Given the description of an element on the screen output the (x, y) to click on. 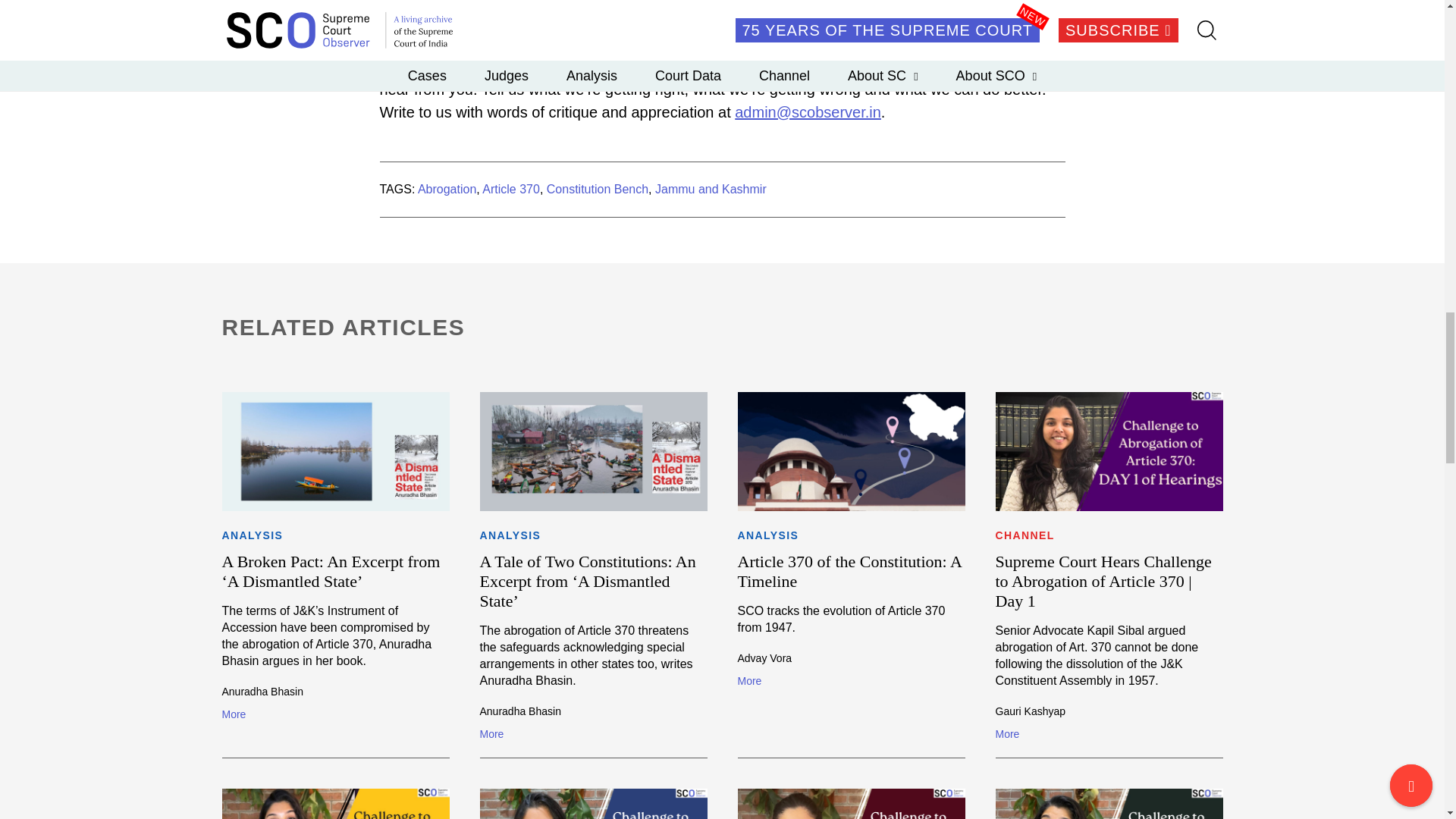
Jammu and Kashmir (711, 188)
Constitution Bench (597, 188)
Article 370 (510, 188)
Abrogation (446, 188)
